Given the description of an element on the screen output the (x, y) to click on. 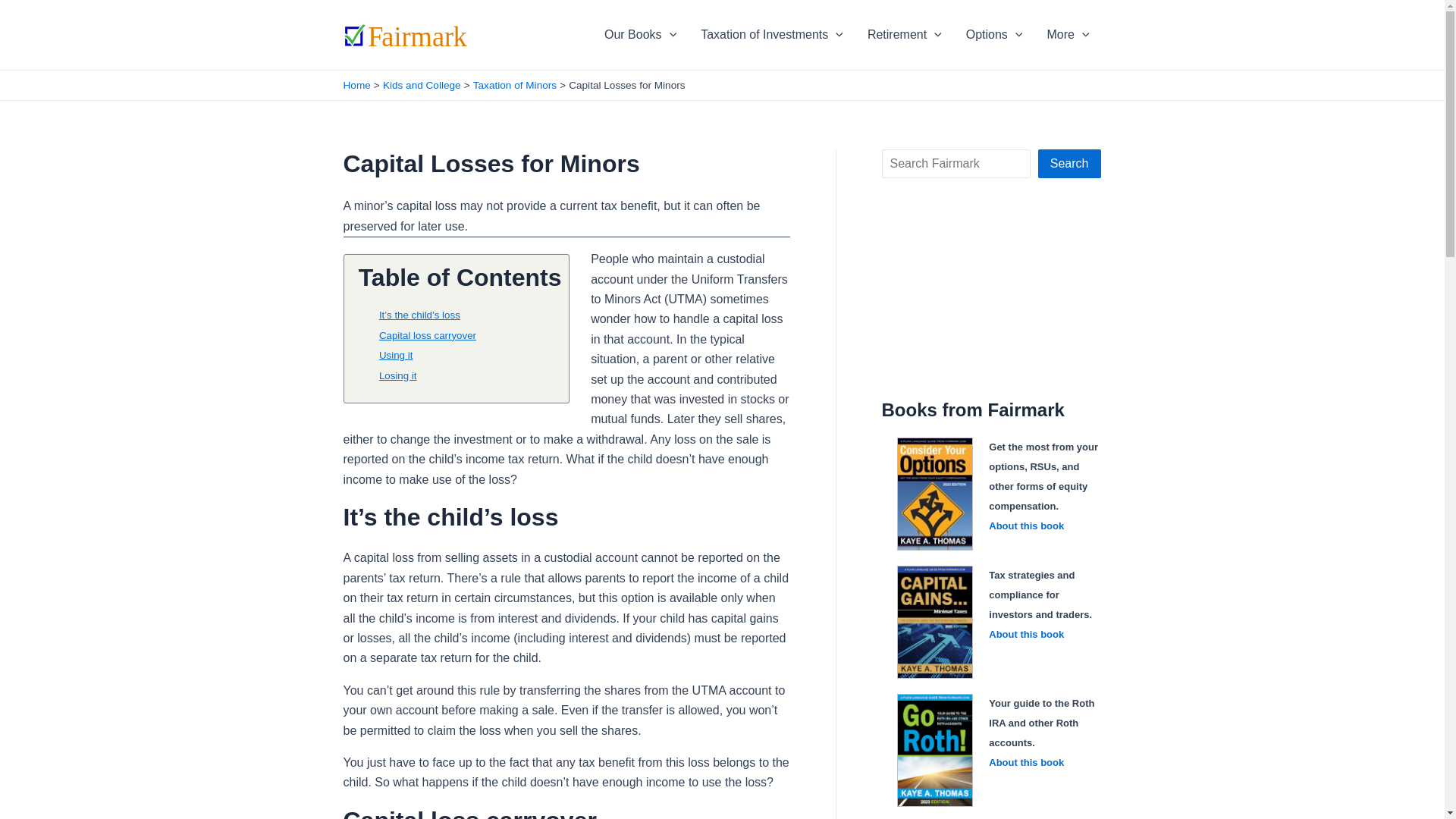
Our Books (640, 34)
Taxation of Investments (772, 34)
Options (994, 34)
Retirement (904, 34)
More (1066, 34)
